Given the description of an element on the screen output the (x, y) to click on. 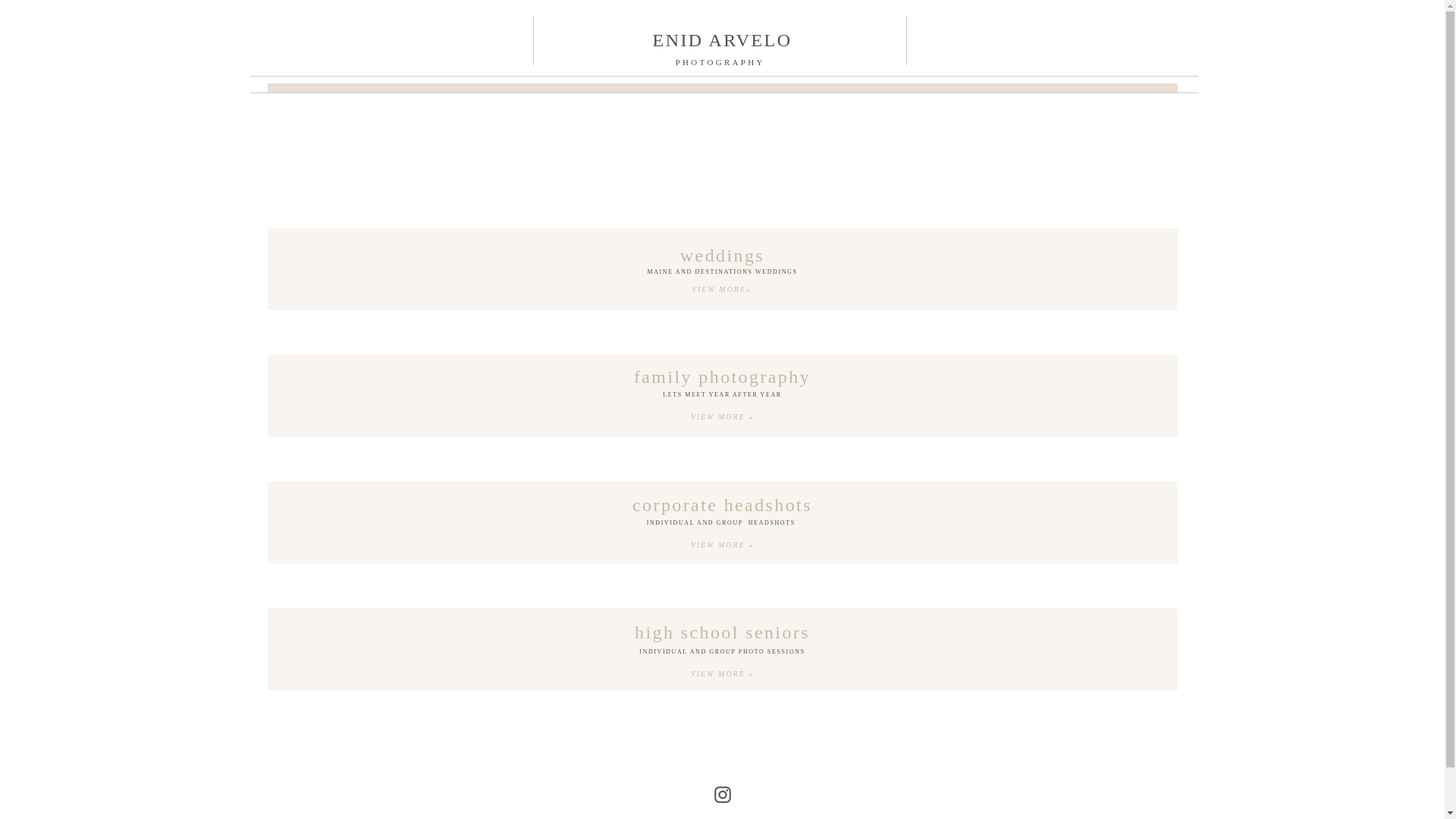
Instagram-color Created with Sketch. (721, 794)
family photography (722, 376)
INDIVIDUAL AND GROUP  HEADSHOTS  (722, 525)
high school seniors (722, 631)
weddings (722, 254)
MAINE AND DESTINATIONS WEDDINGS (722, 274)
corporate headshots (722, 504)
LETS MEET YEAR AFTER YEAR (722, 397)
INDIVIDUAL AND GROUP PHOTO SESSIONS (722, 654)
ENID ARVELO (722, 41)
Instagram-color Created with Sketch. (721, 794)
